Given the description of an element on the screen output the (x, y) to click on. 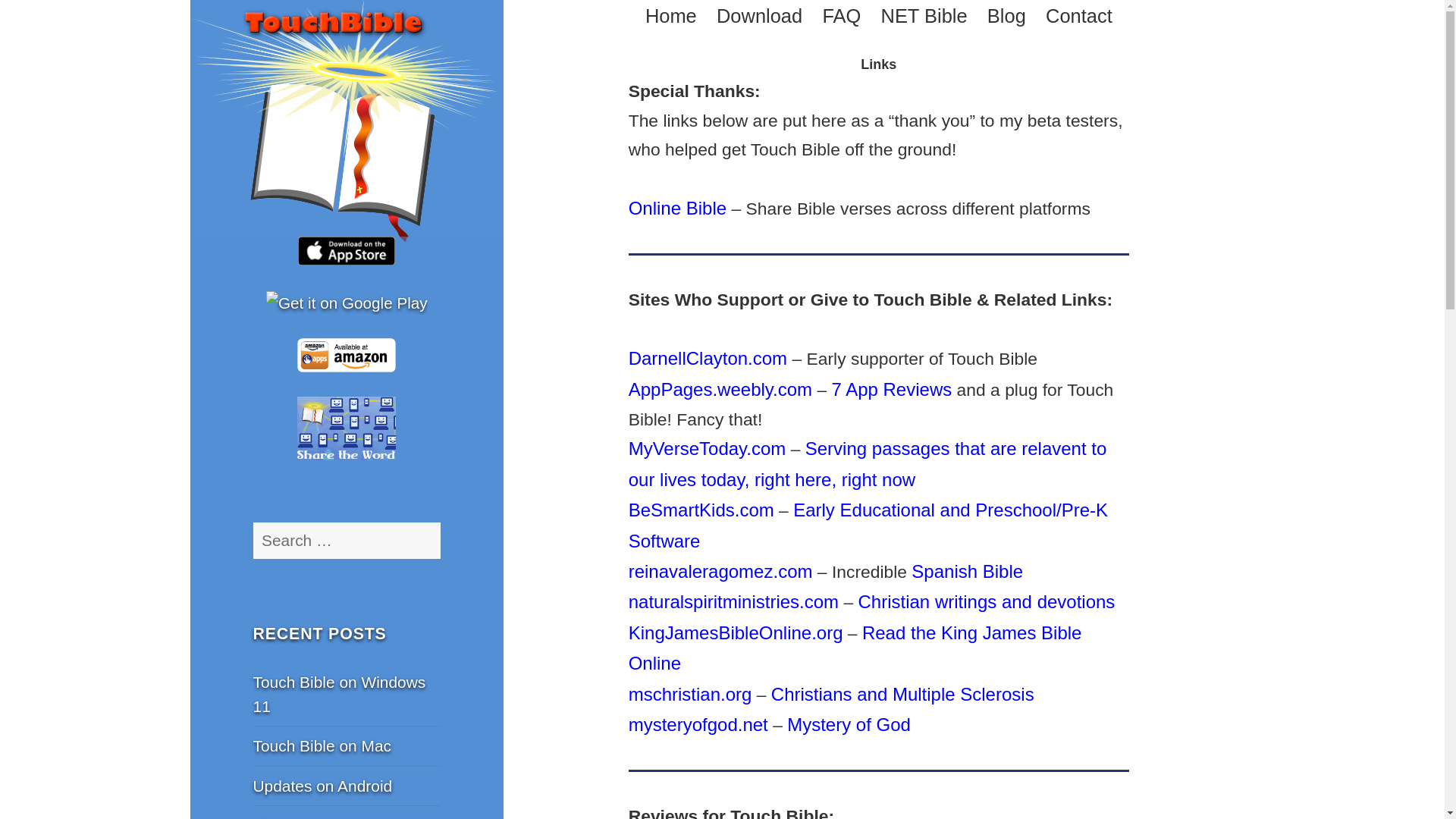
Touch Bible on Windows 11 (339, 693)
Download (759, 15)
7 App Reviews (891, 389)
Blog (1006, 15)
AppPages.weebly.com (720, 389)
Thoughts on Net Neutrality (312, 817)
